Given the description of an element on the screen output the (x, y) to click on. 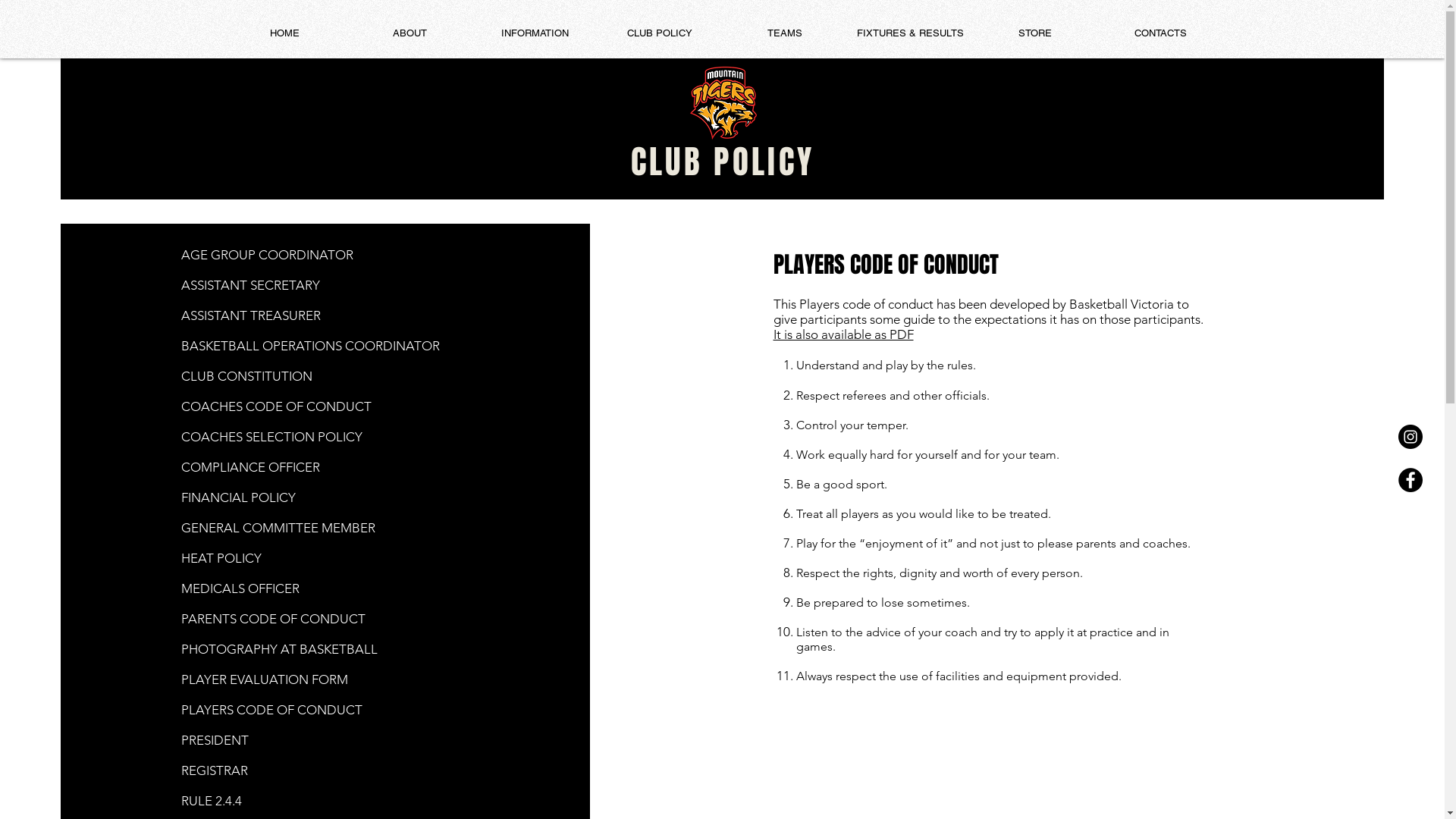
CLUB CONSTITUTION Element type: text (246, 375)
ASSISTANT SECRETARY Element type: text (250, 284)
PHOTOGRAPHY AT BASKETBALL Element type: text (279, 648)
COMPLIANCE OFFICER Element type: text (250, 466)
CLUB POLICY Element type: text (722, 161)
ABOUT Element type: text (409, 32)
MEDICALS OFFICER Element type: text (240, 588)
RULE 2.4.4 Element type: text (211, 800)
GENERAL COMMITTEE MEMBER Element type: text (278, 527)
INFORMATION Element type: text (533, 32)
PLAYER EVALUATION FORM Element type: text (264, 679)
REGISTRAR Element type: text (214, 770)
PLAYERS CODE OF CONDUCT Element type: text (271, 709)
ASSISTANT TREASURER Element type: text (250, 315)
FINANCIAL POLICY Element type: text (238, 504)
CONTACTS Element type: text (1160, 32)
STORE Element type: text (1034, 32)
HEAT POLICY Element type: text (221, 557)
COACHES SELECTION POLICY Element type: text (271, 436)
It is also available as PDF Element type: text (843, 334)
HOME Element type: text (283, 32)
CLUB POLICY Element type: text (659, 32)
AGE GROUP COORDINATOR Element type: text (267, 254)
BASKETBALL OPERATIONS COORDINATOR Element type: text (310, 345)
COACHES CODE OF CONDUCT Element type: text (276, 406)
PARENTS CODE OF CONDUCT Element type: text (273, 633)
FIXTURES & RESULTS Element type: text (909, 32)
TEAMS Element type: text (784, 32)
PRESIDENT Element type: text (214, 739)
